Given the description of an element on the screen output the (x, y) to click on. 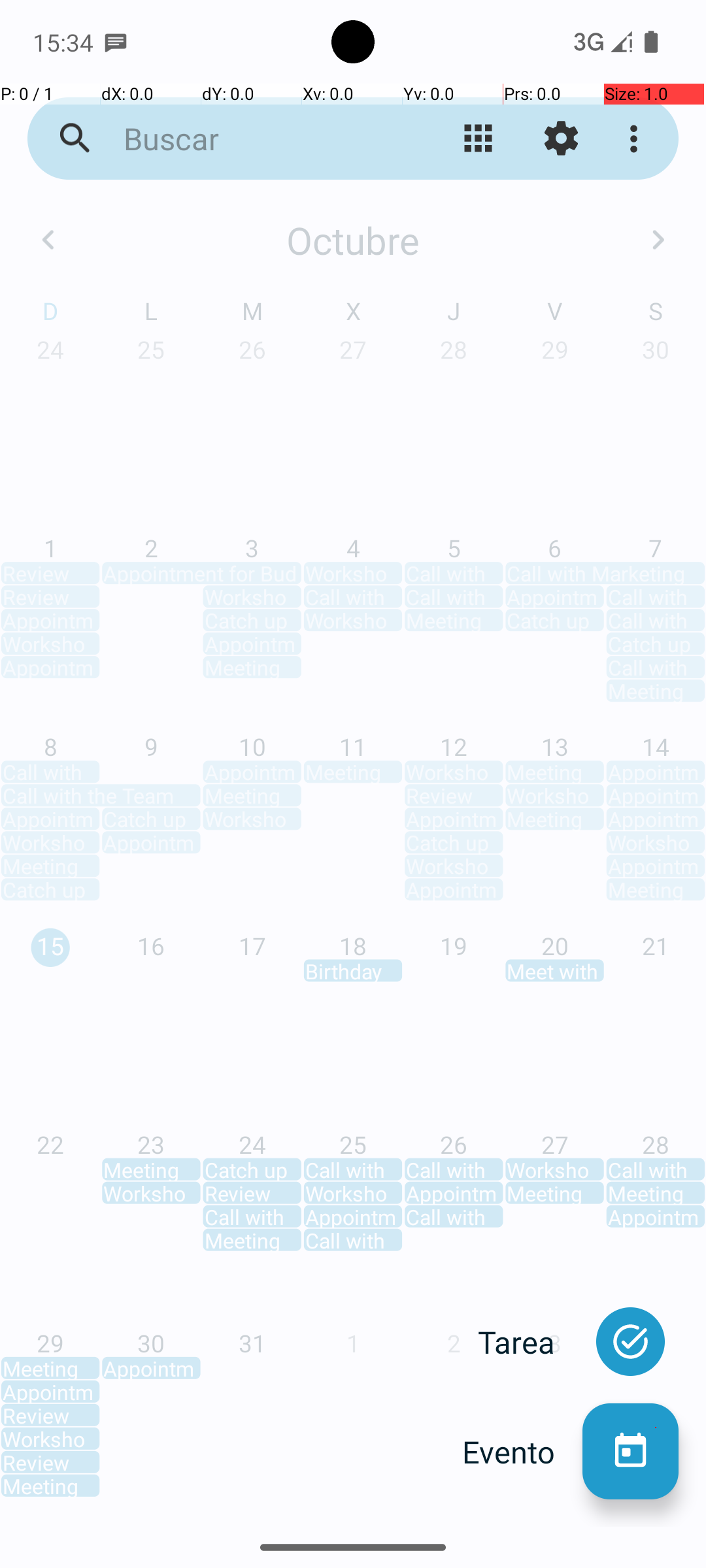
Tarea Element type: android.widget.TextView (529, 1341)
Evento Element type: android.widget.TextView (522, 1451)
